Given the description of an element on the screen output the (x, y) to click on. 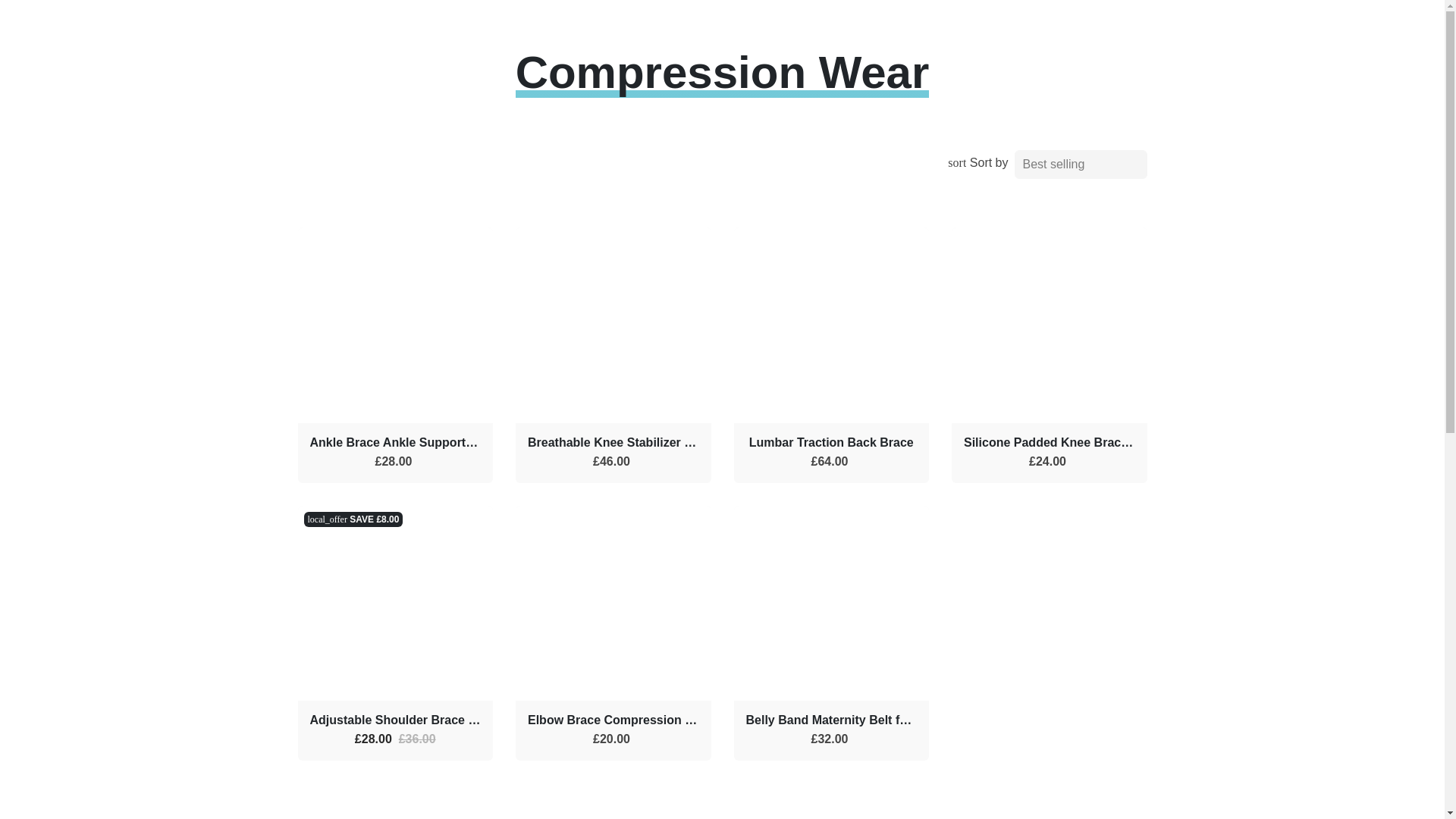
About (558, 16)
Cart (1089, 30)
Search (1001, 30)
